Given the description of an element on the screen output the (x, y) to click on. 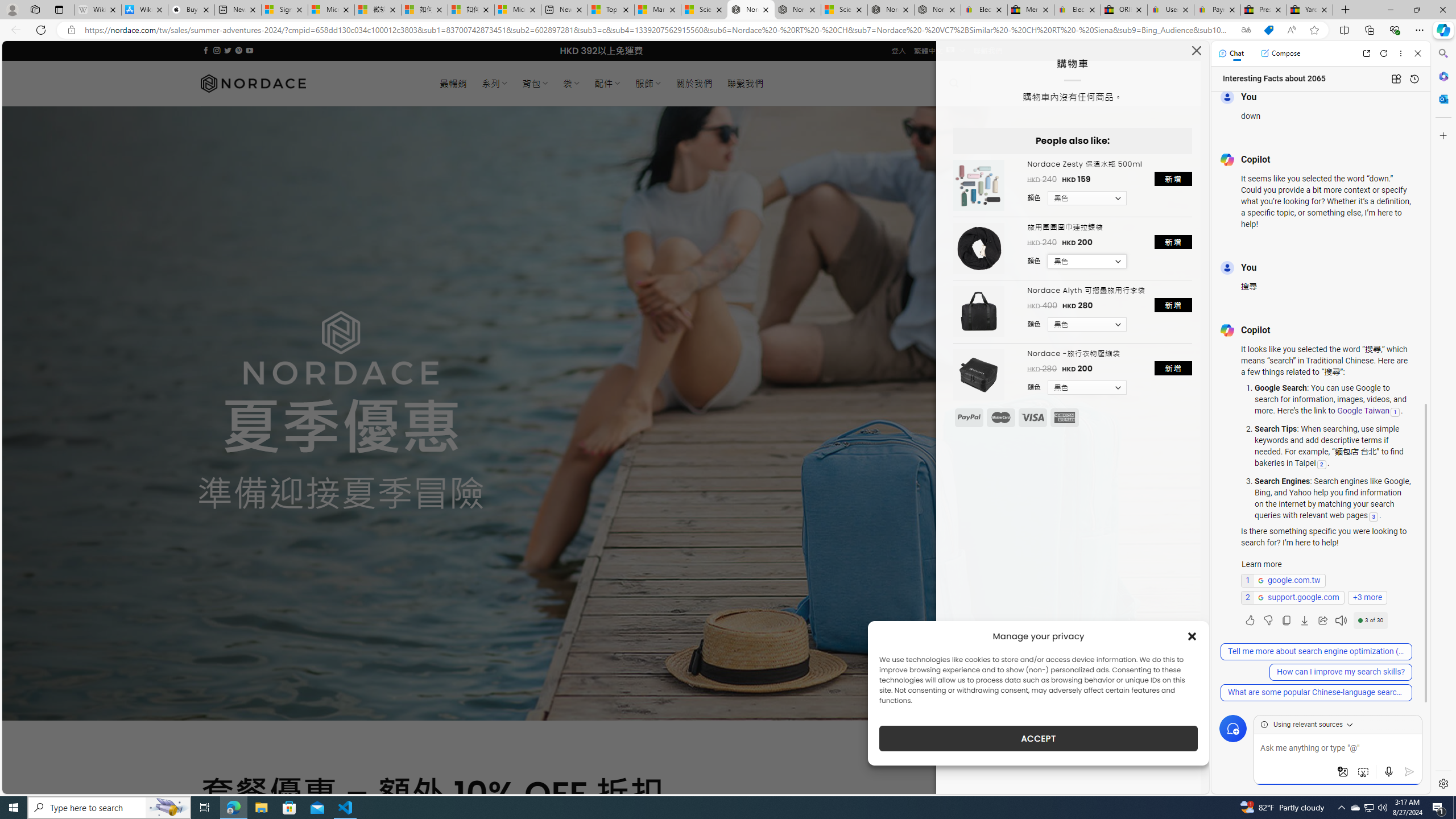
Follow on Instagram (216, 50)
Payments Terms of Use | eBay.com (1216, 9)
